Given the description of an element on the screen output the (x, y) to click on. 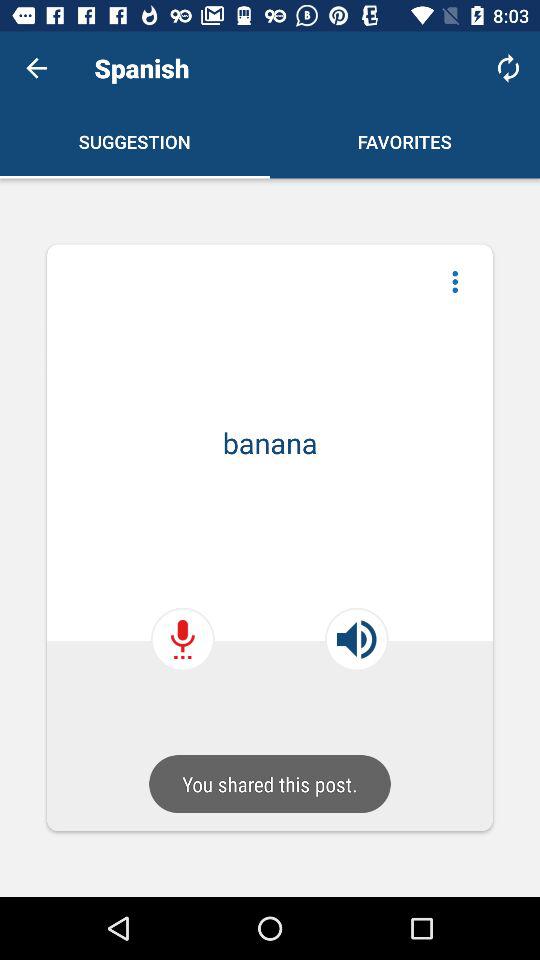
click on refresh icon which is at top right corner of the web page (508, 68)
